Given the description of an element on the screen output the (x, y) to click on. 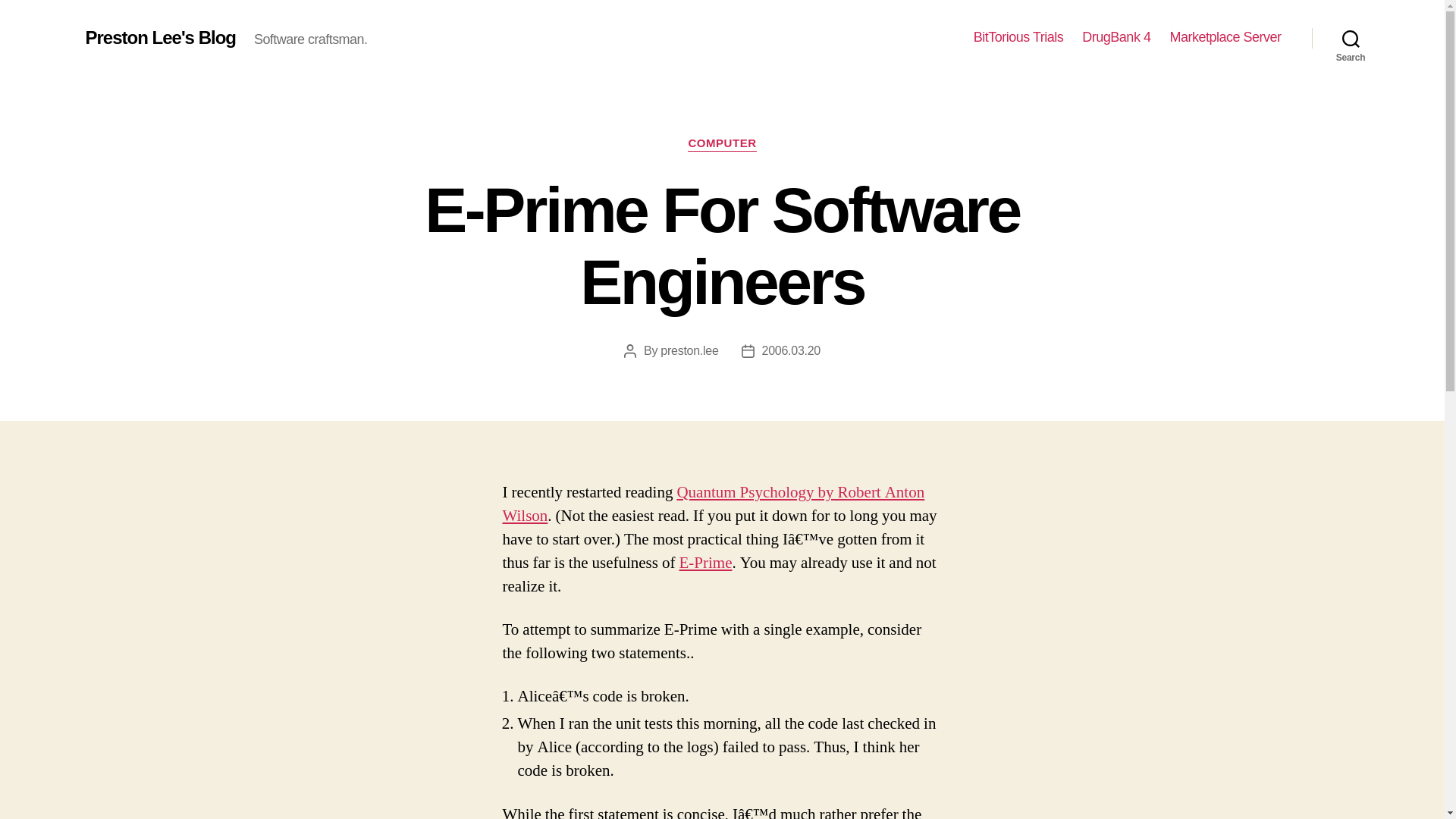
BitTorious Trials (1019, 37)
preston.lee (689, 350)
DrugBank 4 (1115, 37)
Preston Lee's Blog (159, 37)
Search (1350, 37)
2006.03.20 (791, 350)
Quantum Psychology by Robert Anton Wilson (713, 504)
E-Prime (705, 562)
COMPUTER (721, 143)
Marketplace Server (1225, 37)
